Given the description of an element on the screen output the (x, y) to click on. 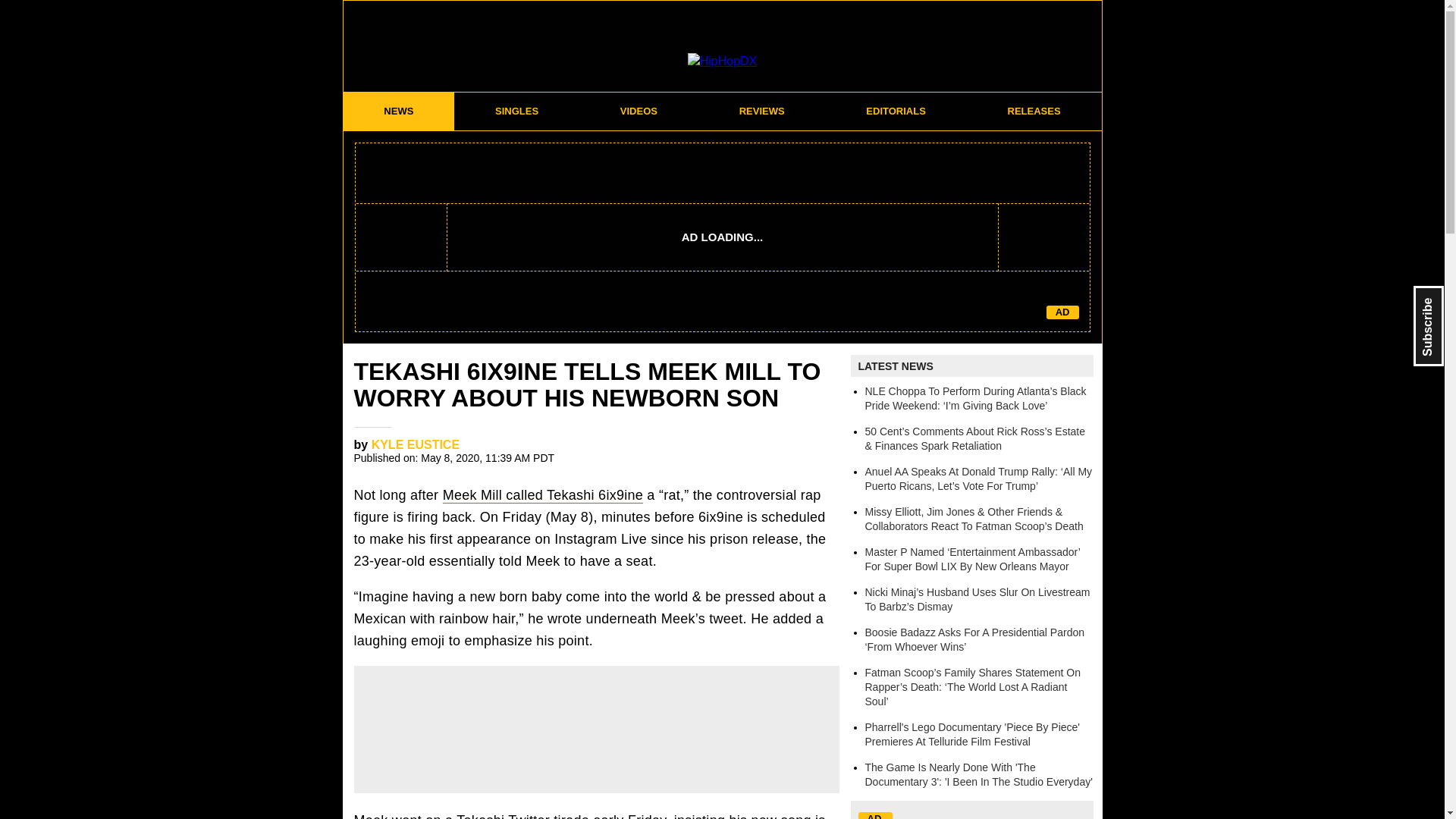
EDITORIALS (895, 111)
KYLE EUSTICE (415, 444)
Meek Mill called Tekashi 6ix9ine (542, 495)
NEWS (398, 111)
VIDEOS (638, 111)
Tekashi (480, 816)
11 (810, 449)
SINGLES (516, 111)
RELEASES (1034, 111)
REVIEWS (761, 111)
